Given the description of an element on the screen output the (x, y) to click on. 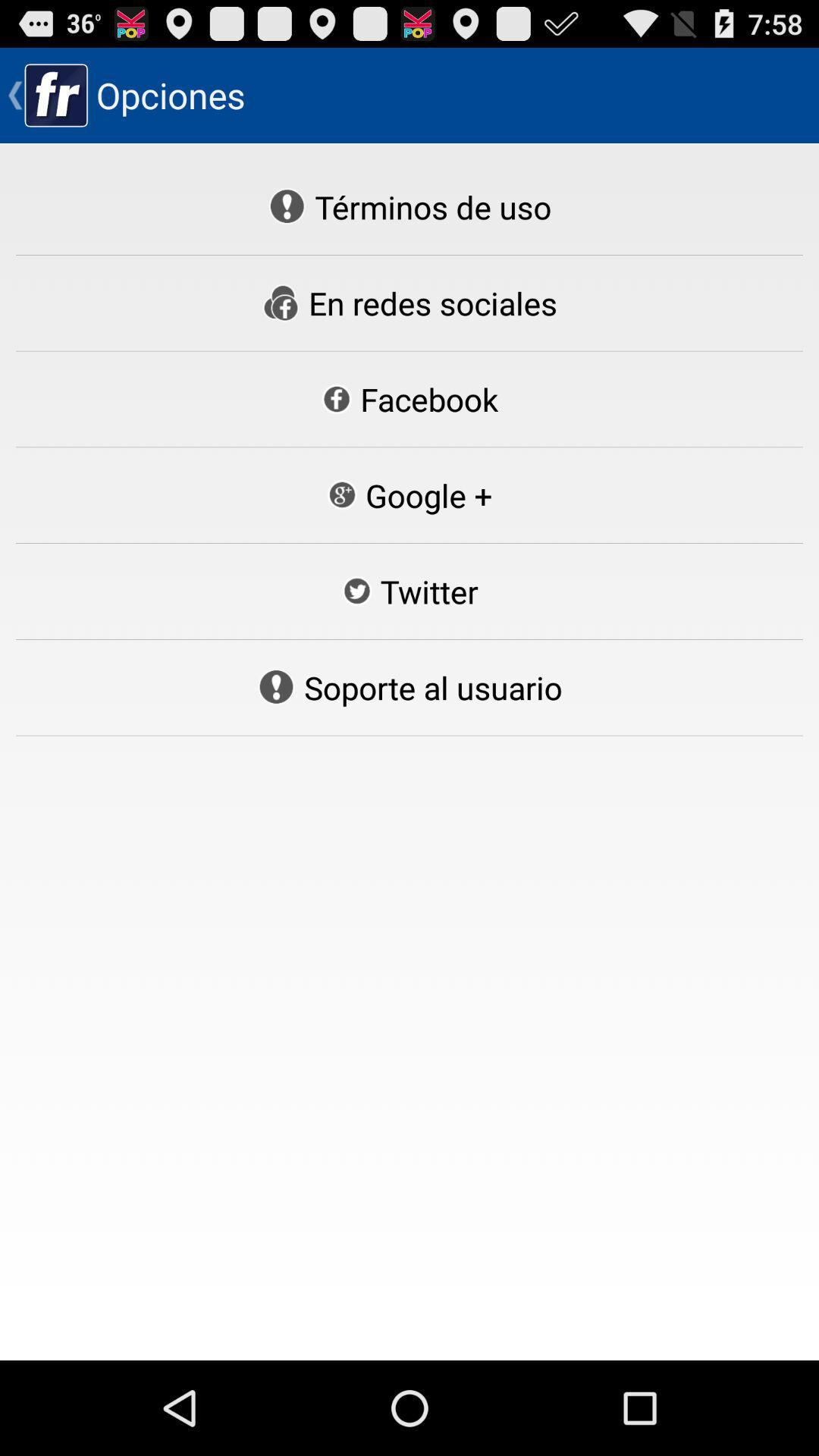
choose icon below the twitter (409, 687)
